Given the description of an element on the screen output the (x, y) to click on. 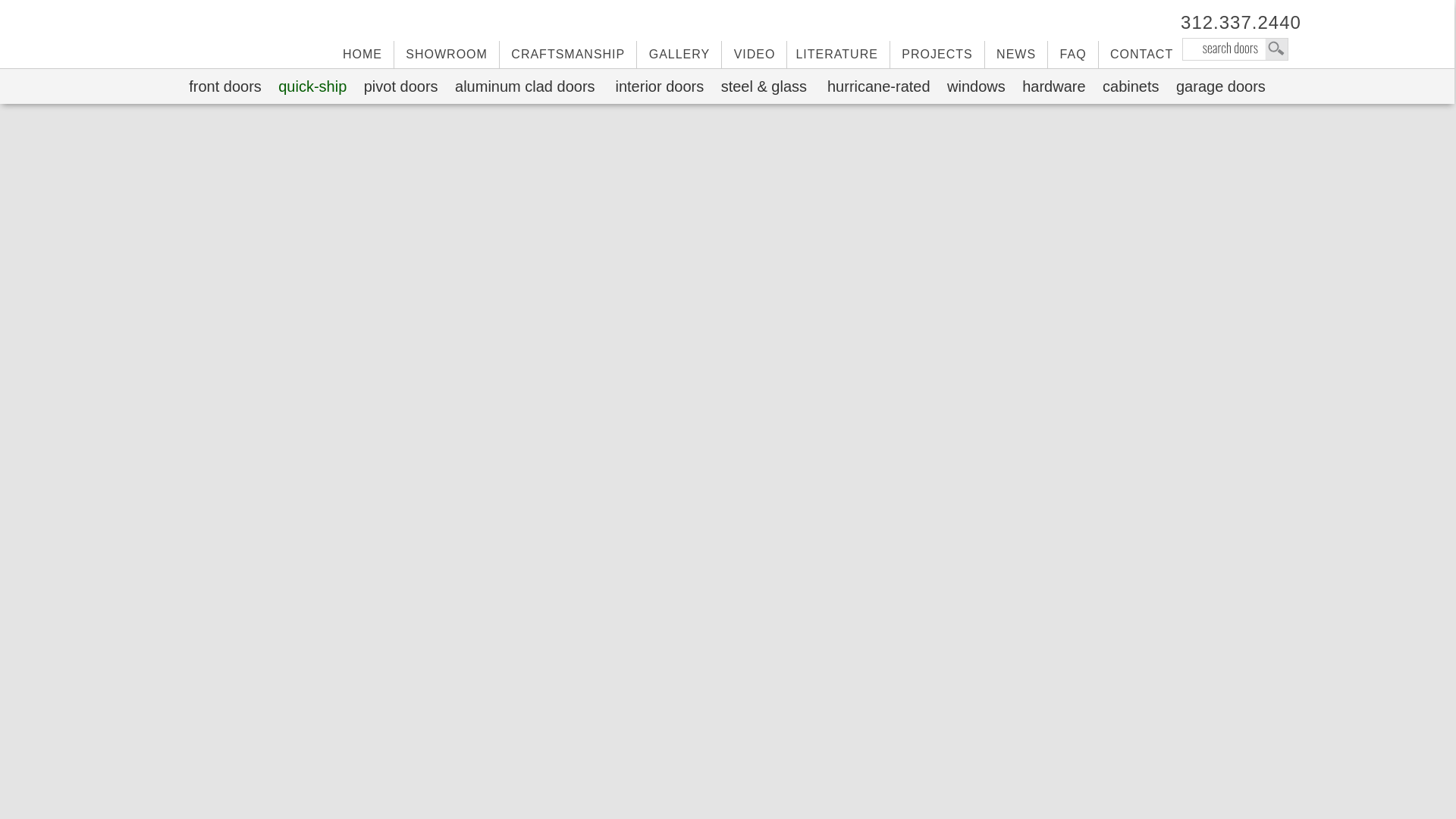
SHOWROOM (446, 53)
GALLERY (679, 53)
312.337.2440 (1234, 22)
CRAFTSMANSHIP (568, 53)
LITERATURE (836, 53)
HOME (362, 53)
VIDEO (754, 53)
front doors (224, 86)
Steel and Glass Doors (763, 86)
NEWS (1016, 53)
